Given the description of an element on the screen output the (x, y) to click on. 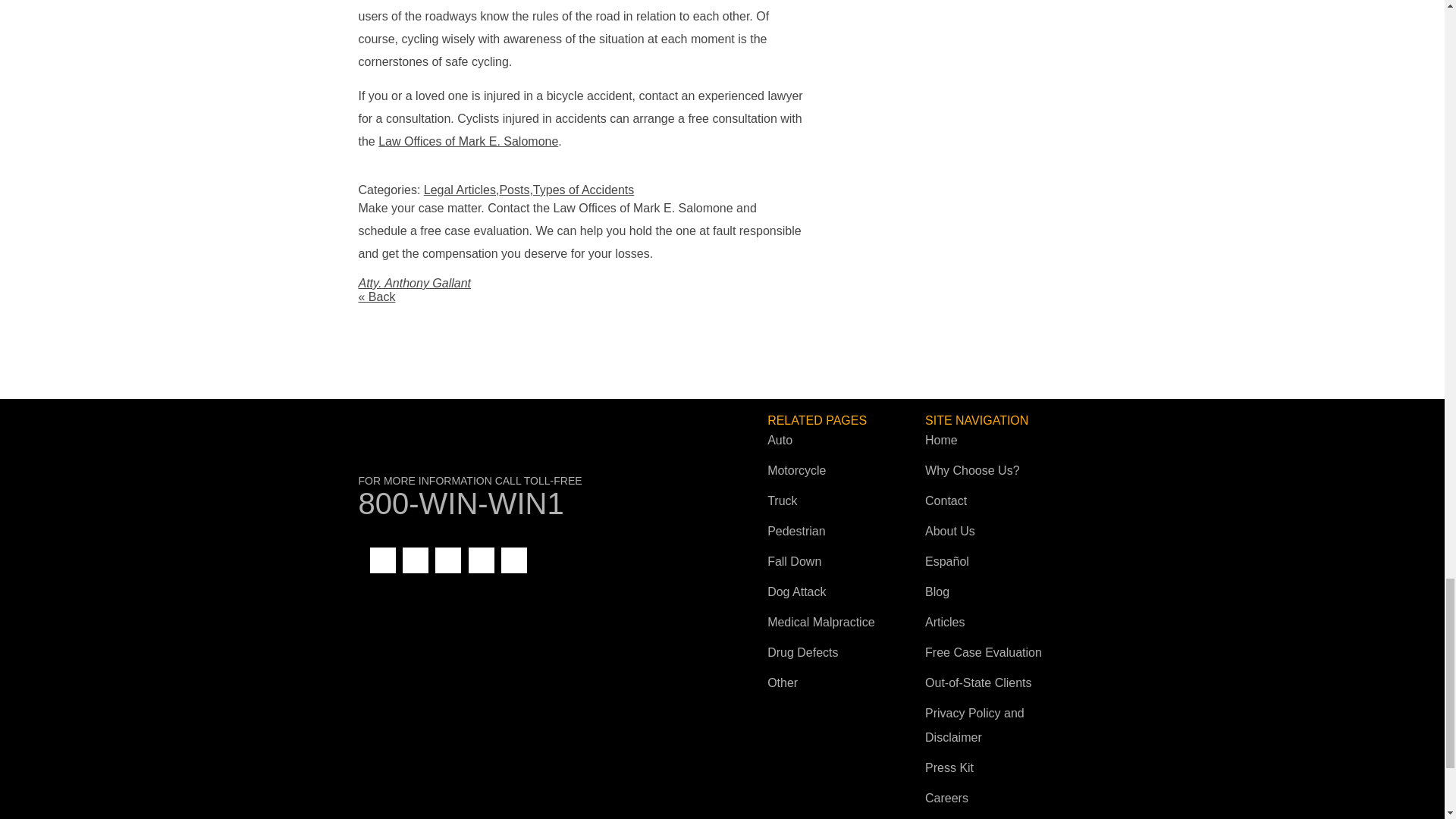
Law Offices of Mark E. Salomone (537, 449)
Follow Us on Instagram (513, 560)
View Us on LinkedIn (415, 560)
Follow Us on Twitter (481, 560)
Like Us on Facebook (382, 560)
Watch Us on YouTube (448, 560)
